Given the description of an element on the screen output the (x, y) to click on. 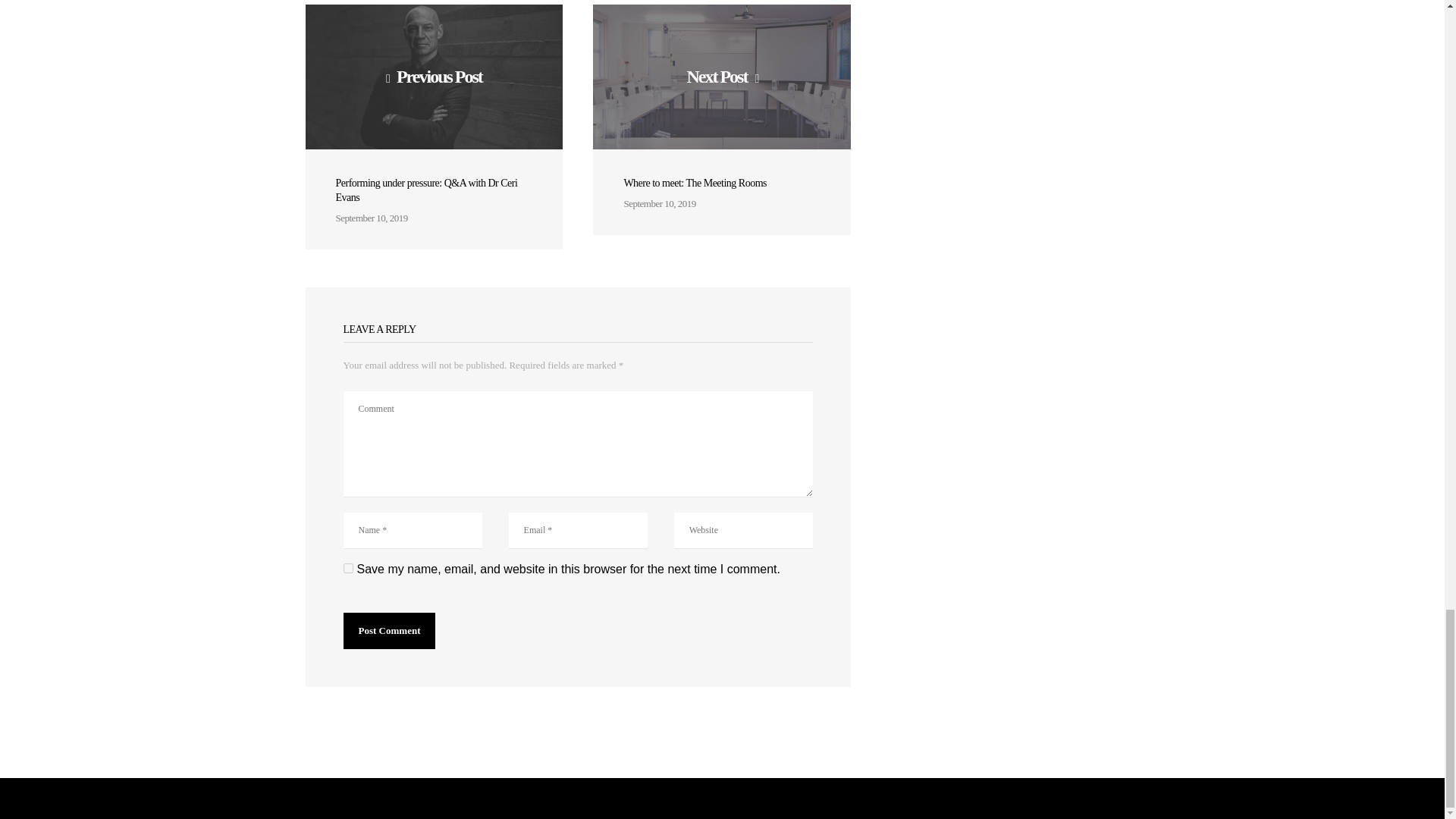
yes (347, 568)
Post Comment (388, 630)
